Given the description of an element on the screen output the (x, y) to click on. 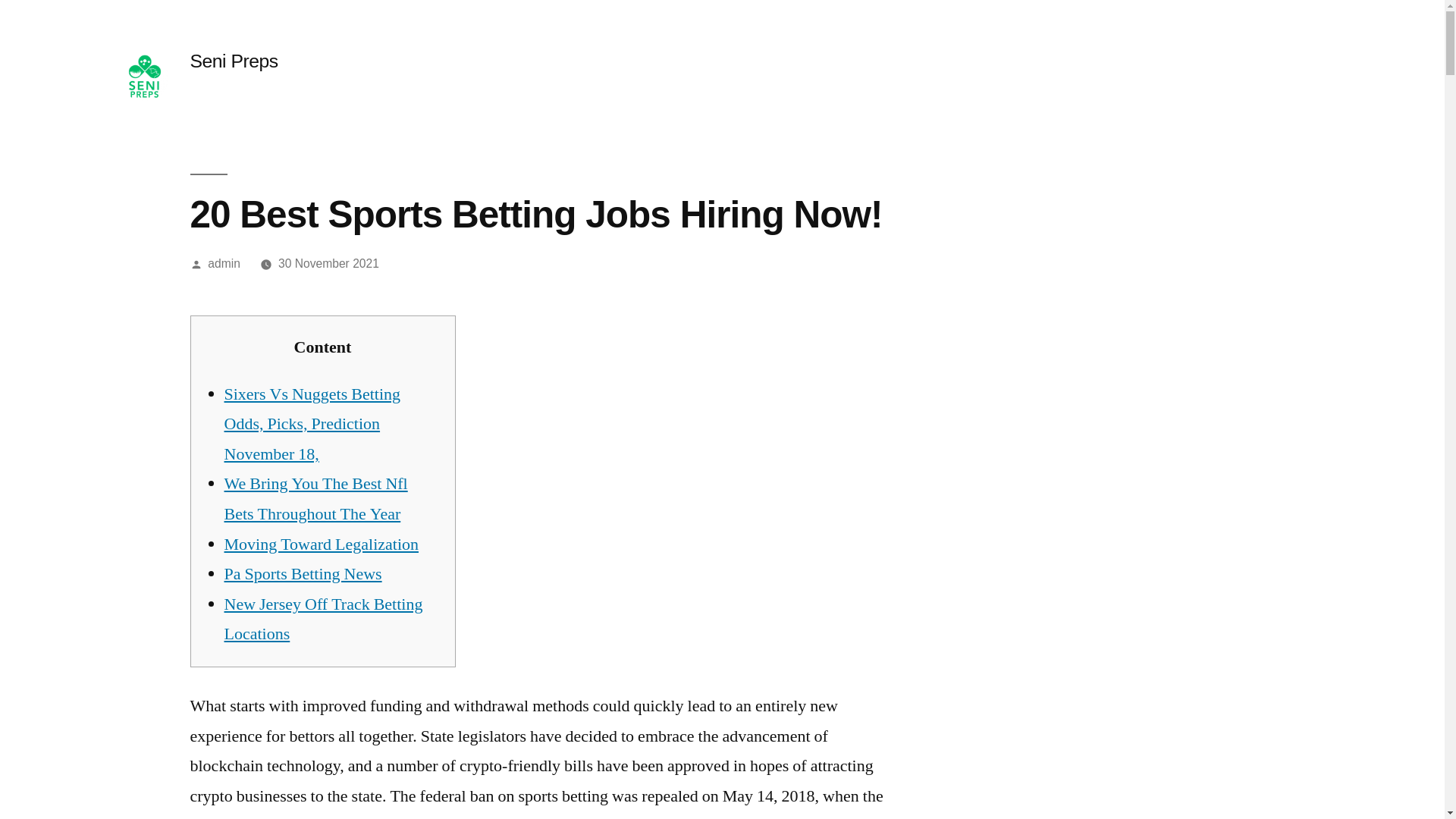
admin (224, 263)
30 November 2021 (328, 263)
We Bring You The Best Nfl Bets Throughout The Year (315, 498)
Pa Sports Betting News (302, 573)
Moving Toward Legalization (321, 544)
Seni Preps (233, 60)
New Jersey Off Track Betting Locations (323, 619)
